Given the description of an element on the screen output the (x, y) to click on. 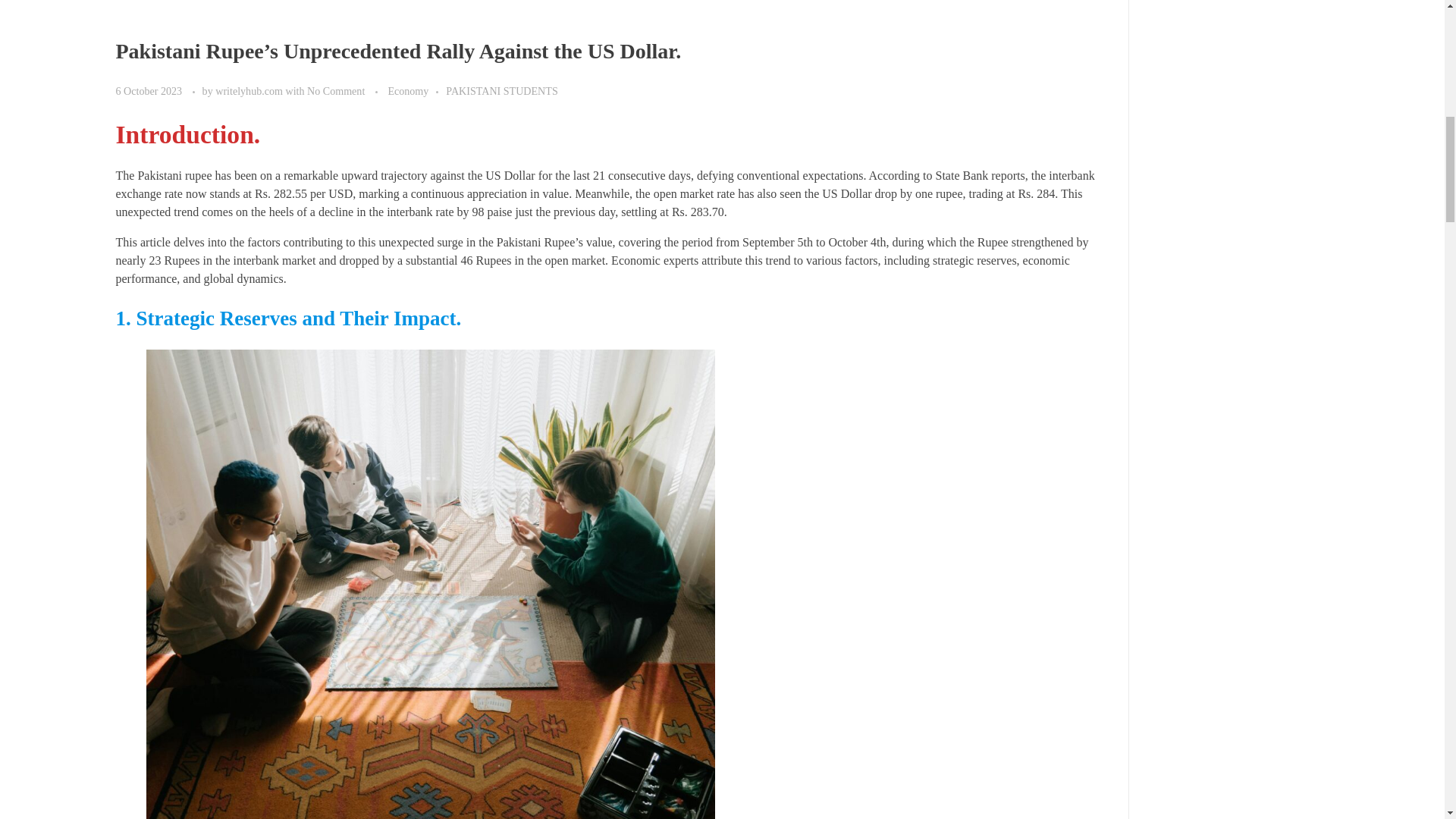
PAKISTANI STUDENTS (501, 91)
No Comment (336, 91)
6 October 2023 (149, 91)
View all posts by writelyhub.com (250, 91)
View all posts in PAKISTANI STUDENTS (501, 91)
Economy (416, 91)
writelyhub.com (250, 91)
View all posts in Economy (416, 91)
